Given the description of an element on the screen output the (x, y) to click on. 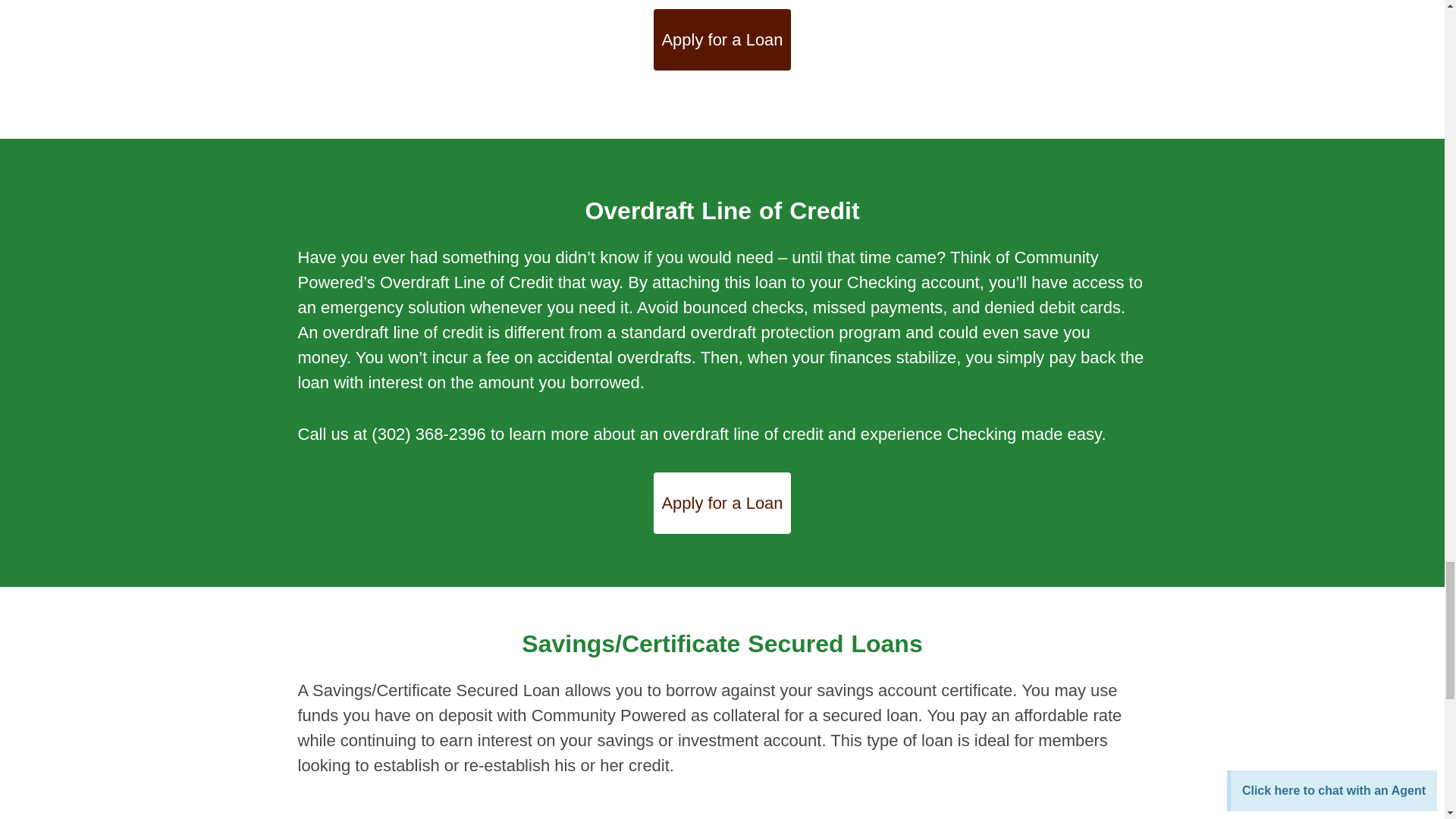
Page 3 (722, 728)
Page 3 (722, 433)
Page 3 (722, 319)
